Given the description of an element on the screen output the (x, y) to click on. 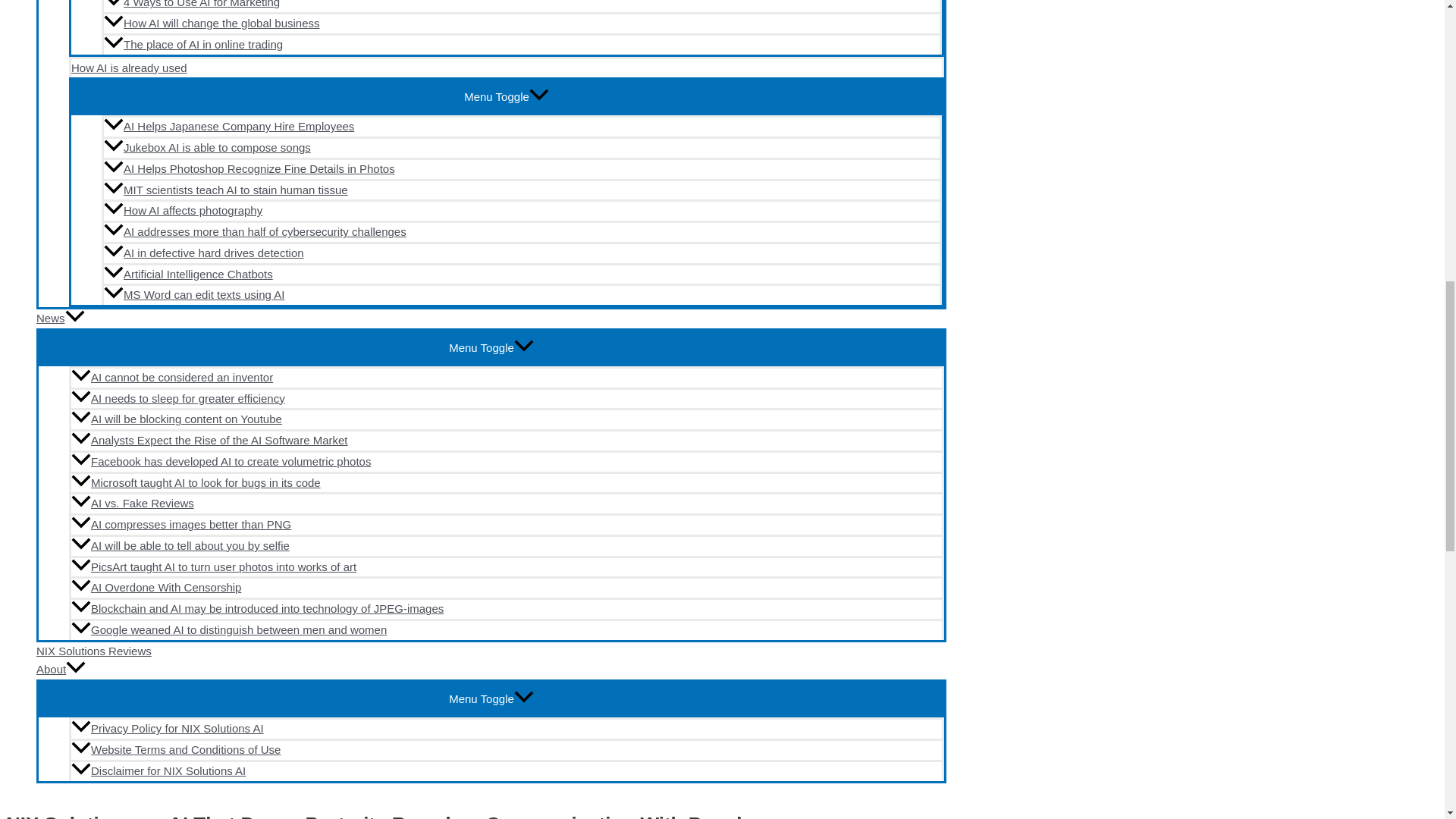
Jukebox AI is able to compose songs (521, 147)
How AI will change the global business (521, 22)
Menu Toggle (505, 94)
AI Helps Japanese Company Hire Employees (521, 125)
How AI is already used (505, 66)
The place of AI in online trading (521, 43)
4 Ways to Use AI for Marketing (521, 6)
